Given the description of an element on the screen output the (x, y) to click on. 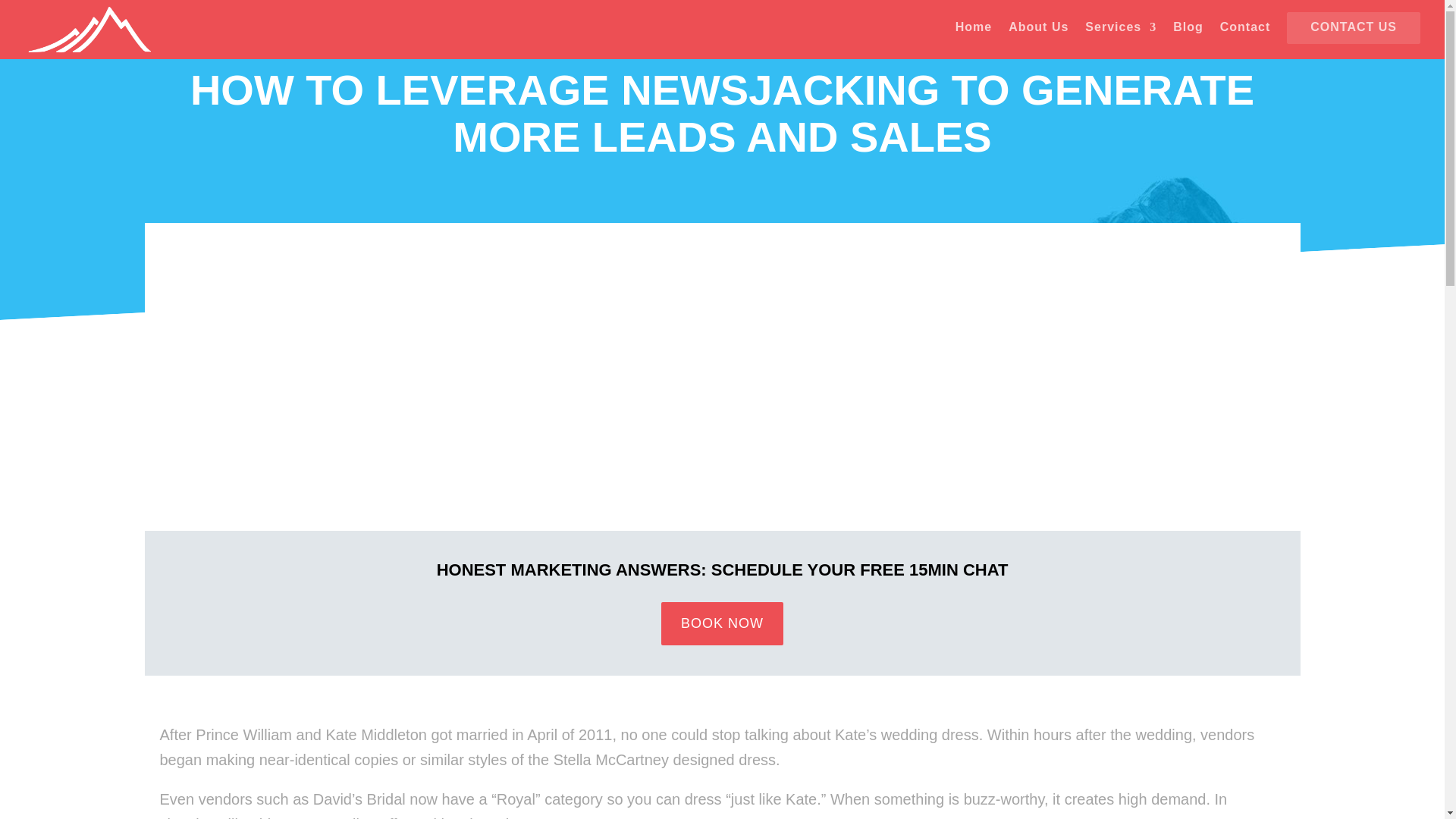
BOOK NOW (722, 623)
CONTACT US (1353, 34)
Contact (1245, 34)
Blog (1188, 34)
About Us (1038, 34)
Services (1120, 34)
Home (973, 34)
